Given the description of an element on the screen output the (x, y) to click on. 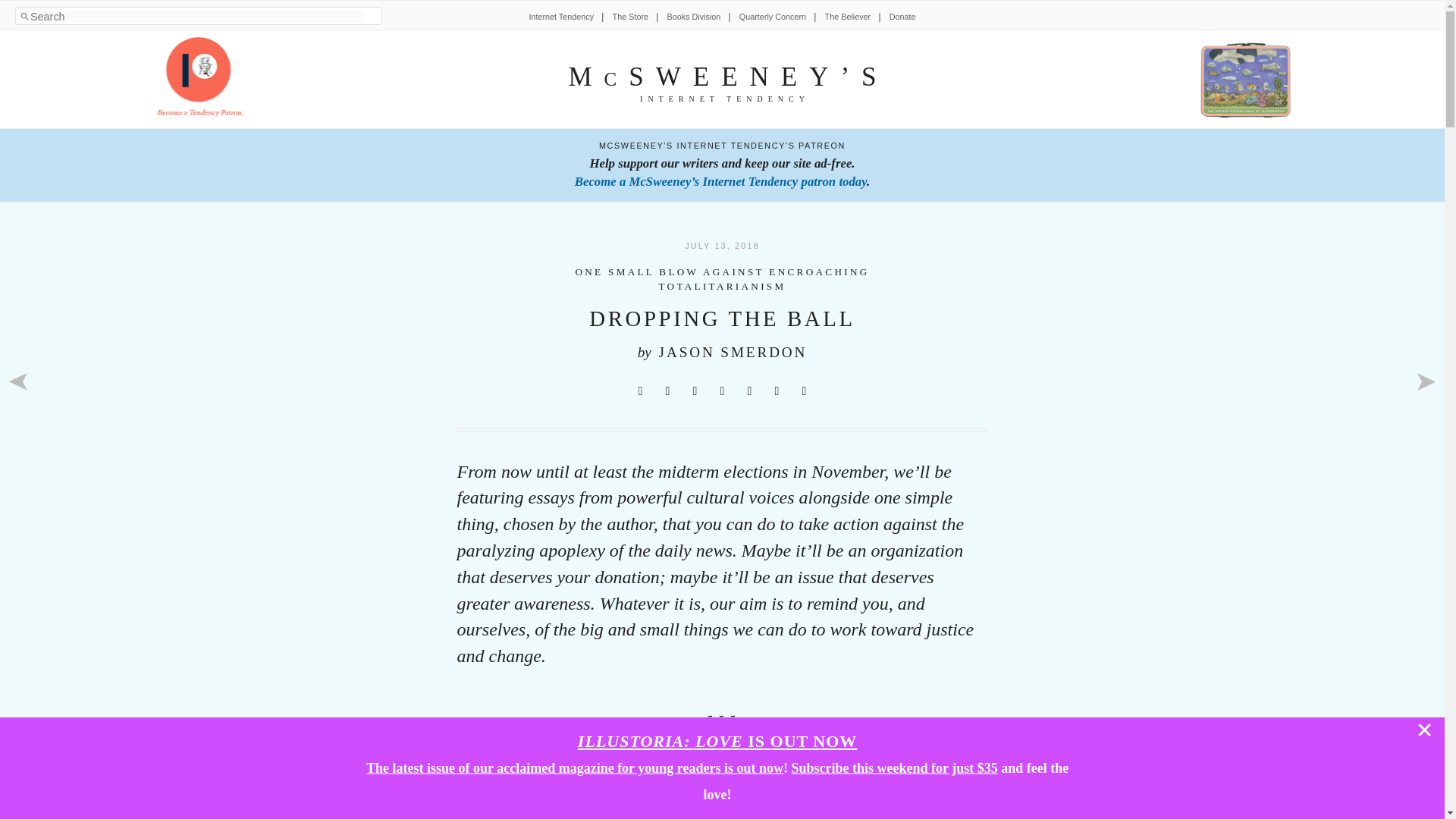
Books Division (693, 16)
Donate (902, 16)
The Believer (847, 16)
Quarterly Concern (772, 16)
Internet Tendency (561, 16)
JASON SMERDON (733, 351)
Share to Email (777, 391)
Share to X (640, 391)
Copy to Clipboard (804, 391)
The Store (629, 16)
